Given the description of an element on the screen output the (x, y) to click on. 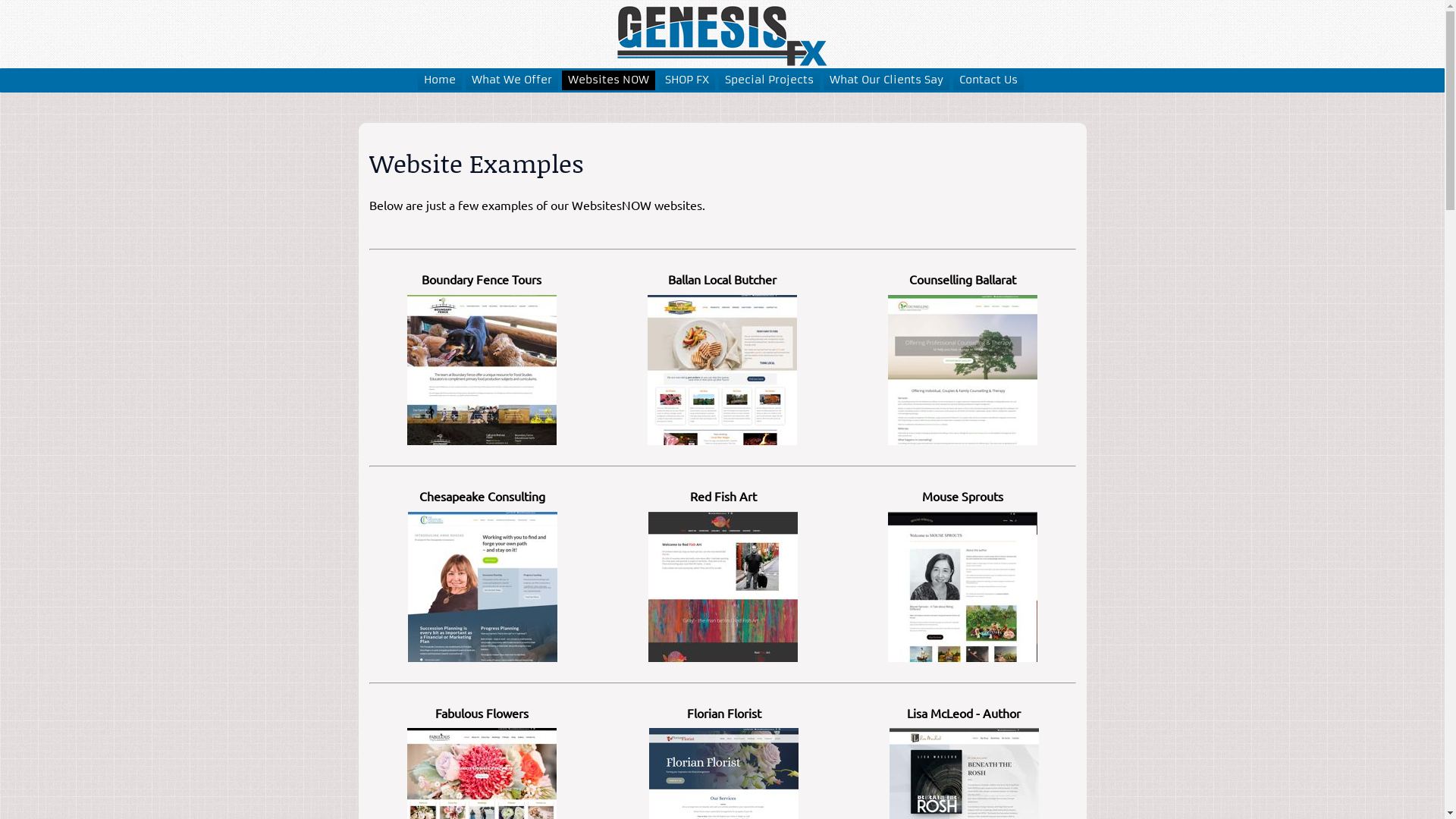
SHOP FX Element type: text (686, 80)
What We Offer Element type: text (511, 80)
Contact Us Element type: text (987, 80)
Websites NOW Element type: text (607, 80)
What Our Clients Say Element type: text (886, 80)
Home Element type: text (439, 80)
Special Projects Element type: text (768, 80)
